Given the description of an element on the screen output the (x, y) to click on. 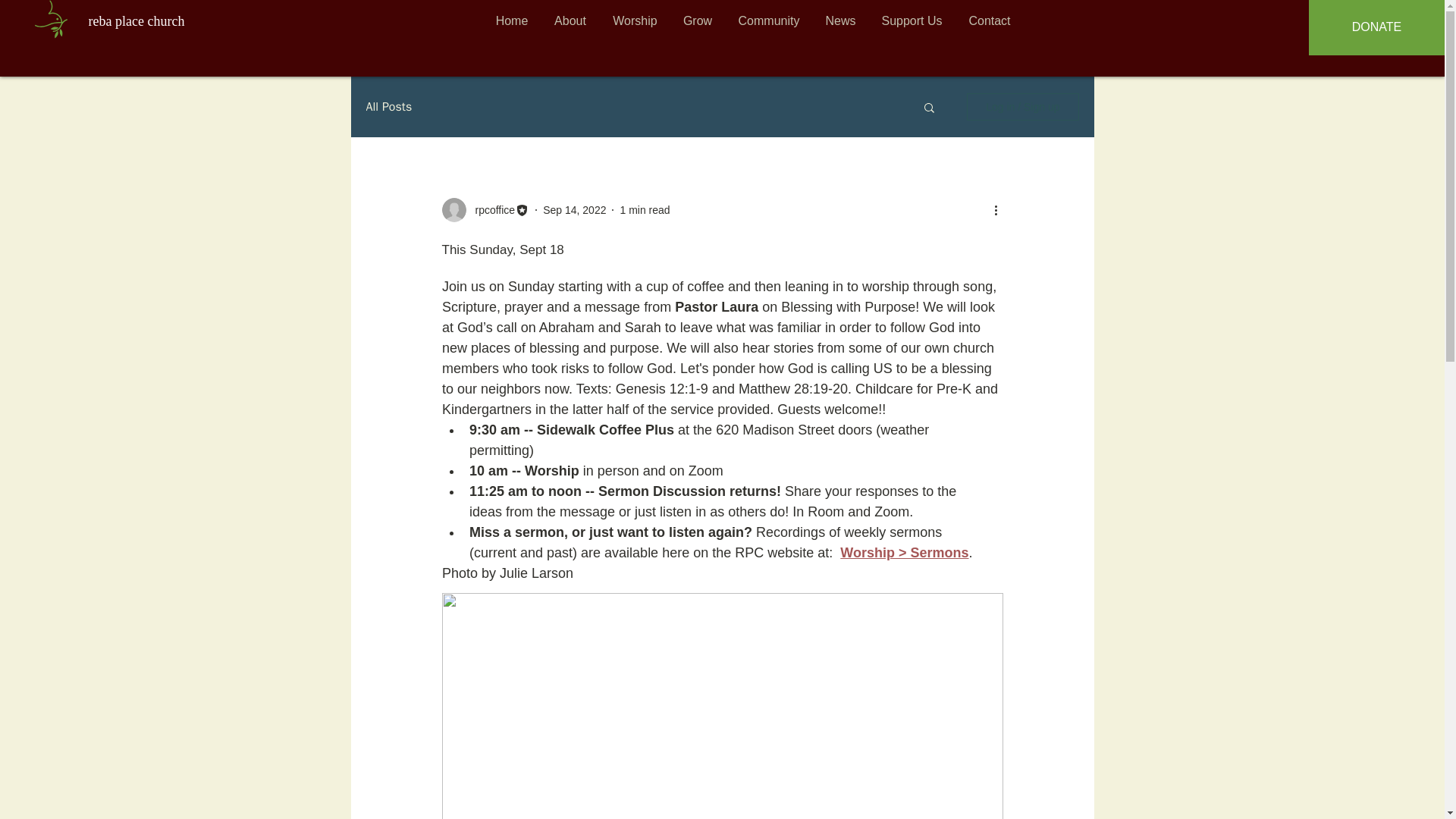
Contact (989, 20)
Support Us (912, 20)
Sep 14, 2022 (574, 209)
Worship (634, 20)
News (839, 20)
Grow (696, 20)
About (570, 20)
rpcoffice (490, 209)
1 min read (644, 209)
Home (511, 20)
All Posts (388, 106)
reba place church (136, 21)
Community (768, 20)
